Given the description of an element on the screen output the (x, y) to click on. 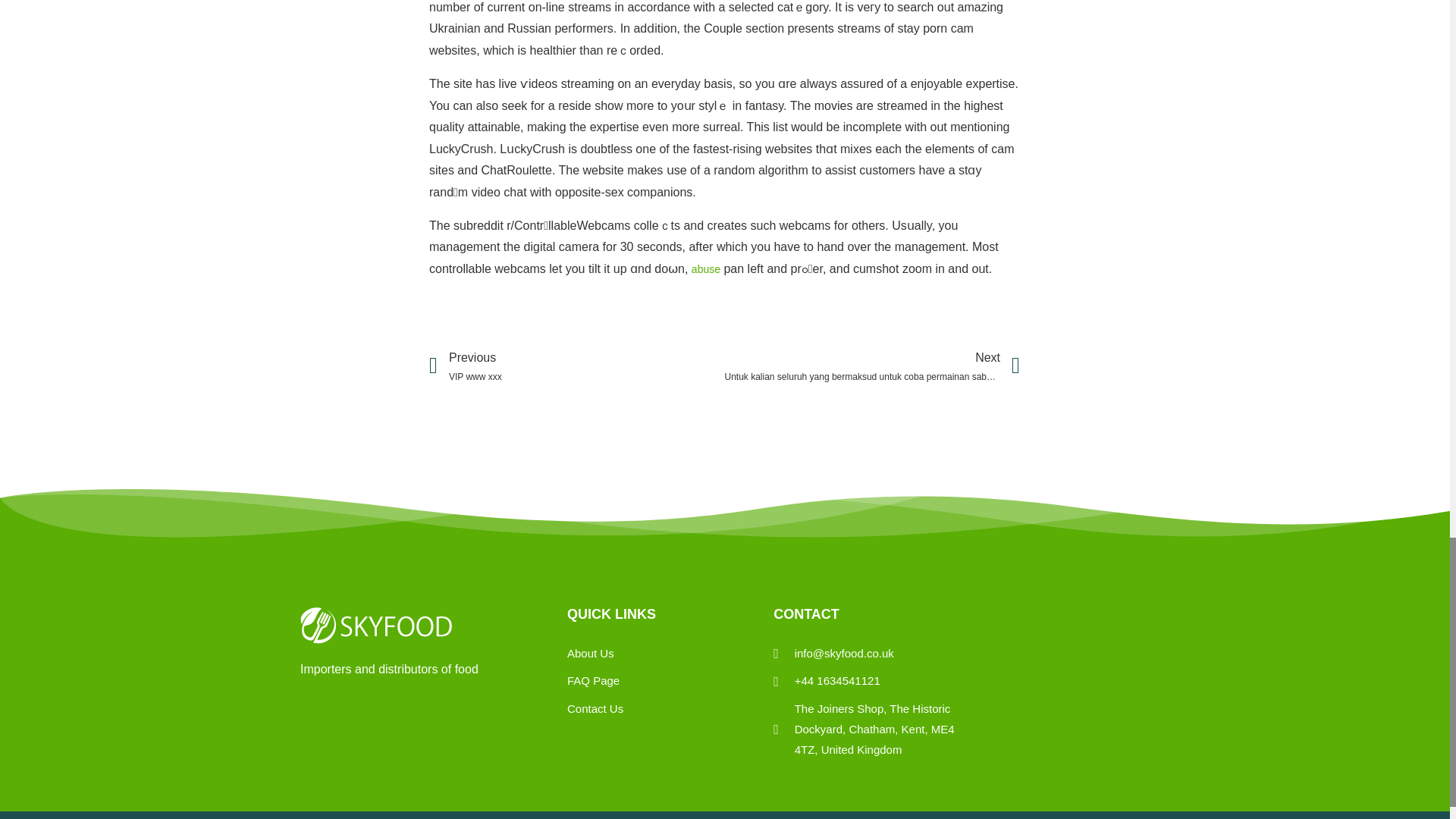
Contact Us (595, 709)
About Us (595, 653)
abuse (577, 365)
foodea-white-logo (705, 268)
